Given the description of an element on the screen output the (x, y) to click on. 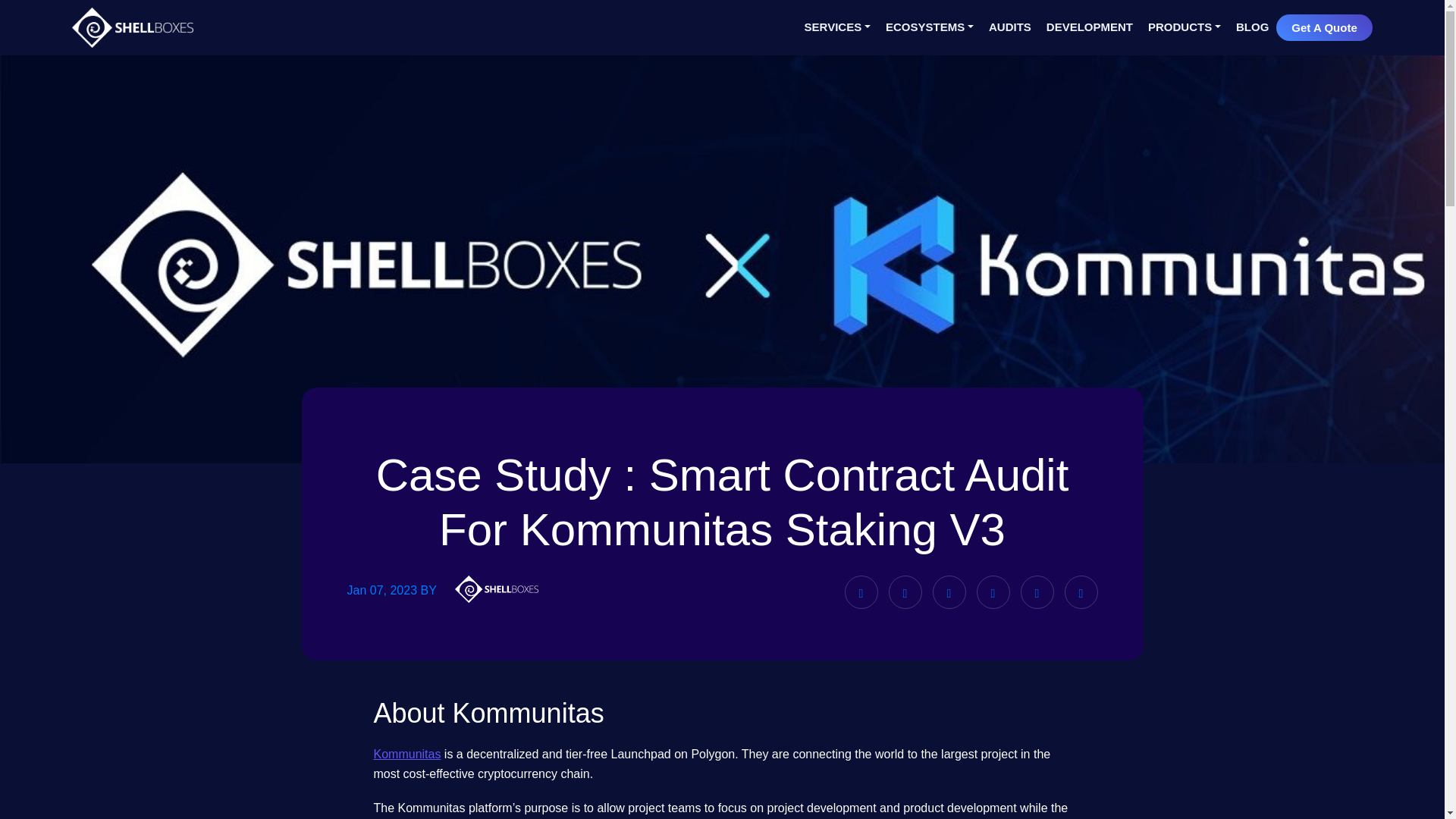
ECOSYSTEMS (929, 23)
AUDITS (1009, 27)
DEVELOPMENT (1089, 27)
PRODUCTS (1184, 27)
